Given the description of an element on the screen output the (x, y) to click on. 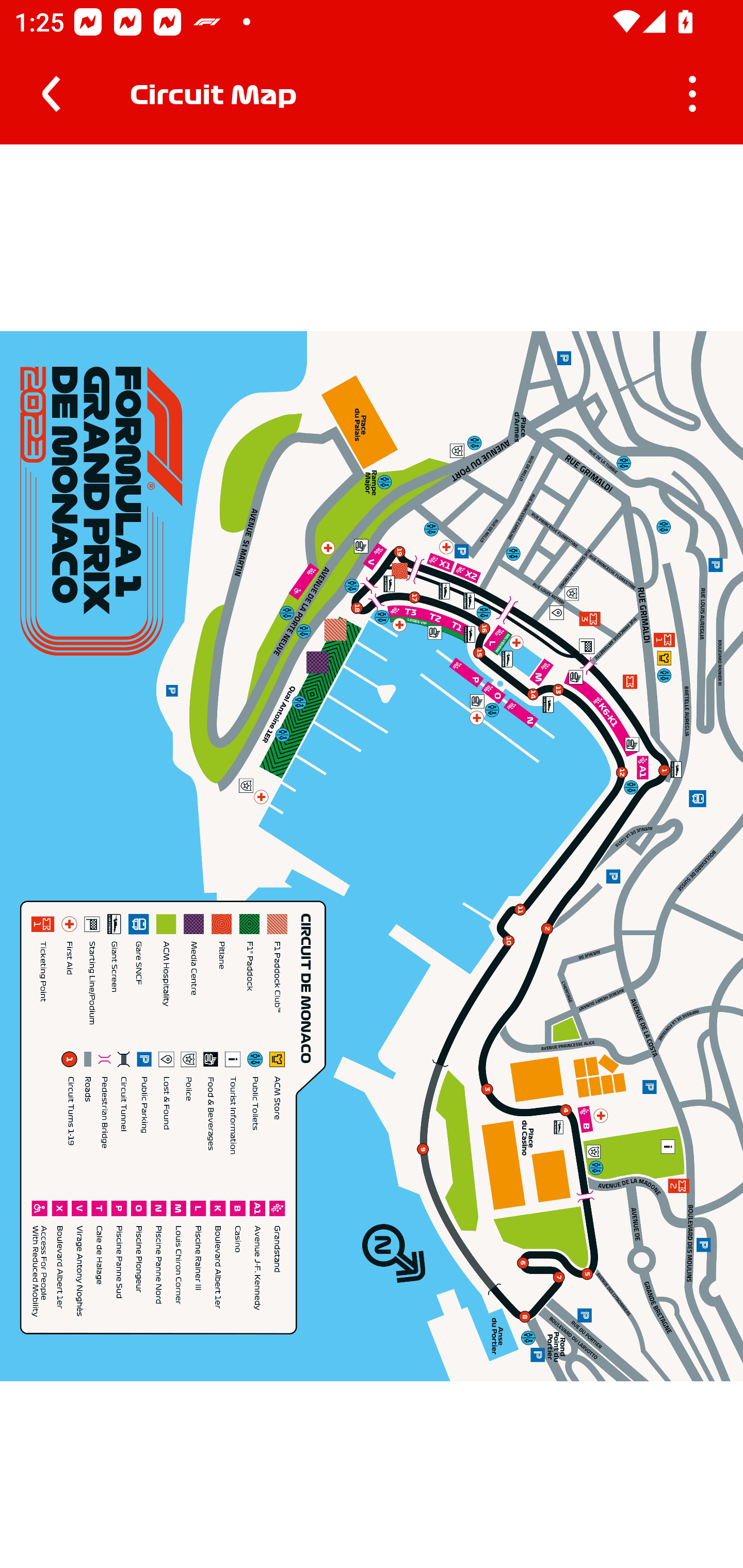
Navigate up (50, 93)
